Given the description of an element on the screen output the (x, y) to click on. 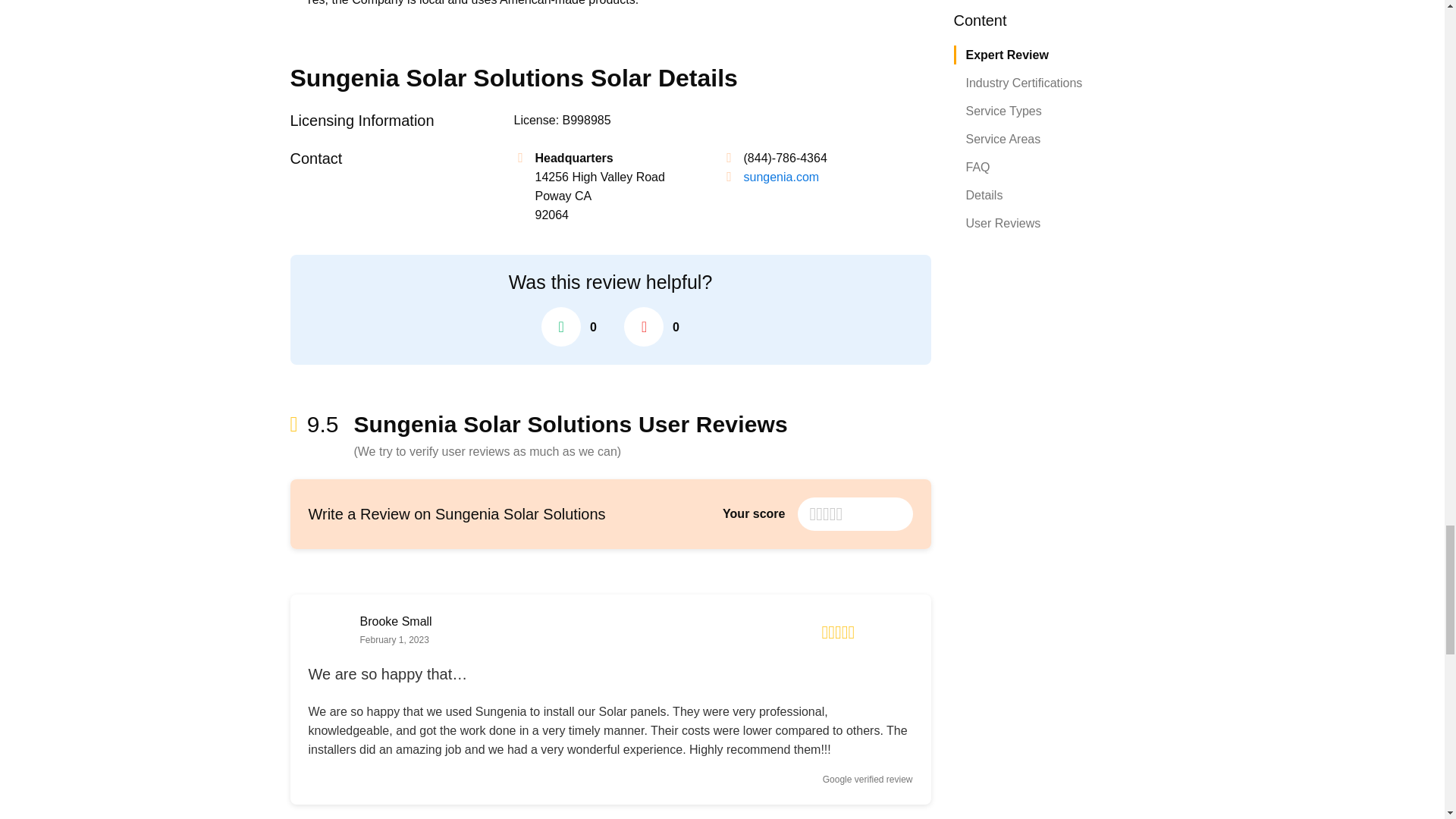
0 (568, 326)
0 (651, 326)
sungenia.com (780, 176)
